Given the description of an element on the screen output the (x, y) to click on. 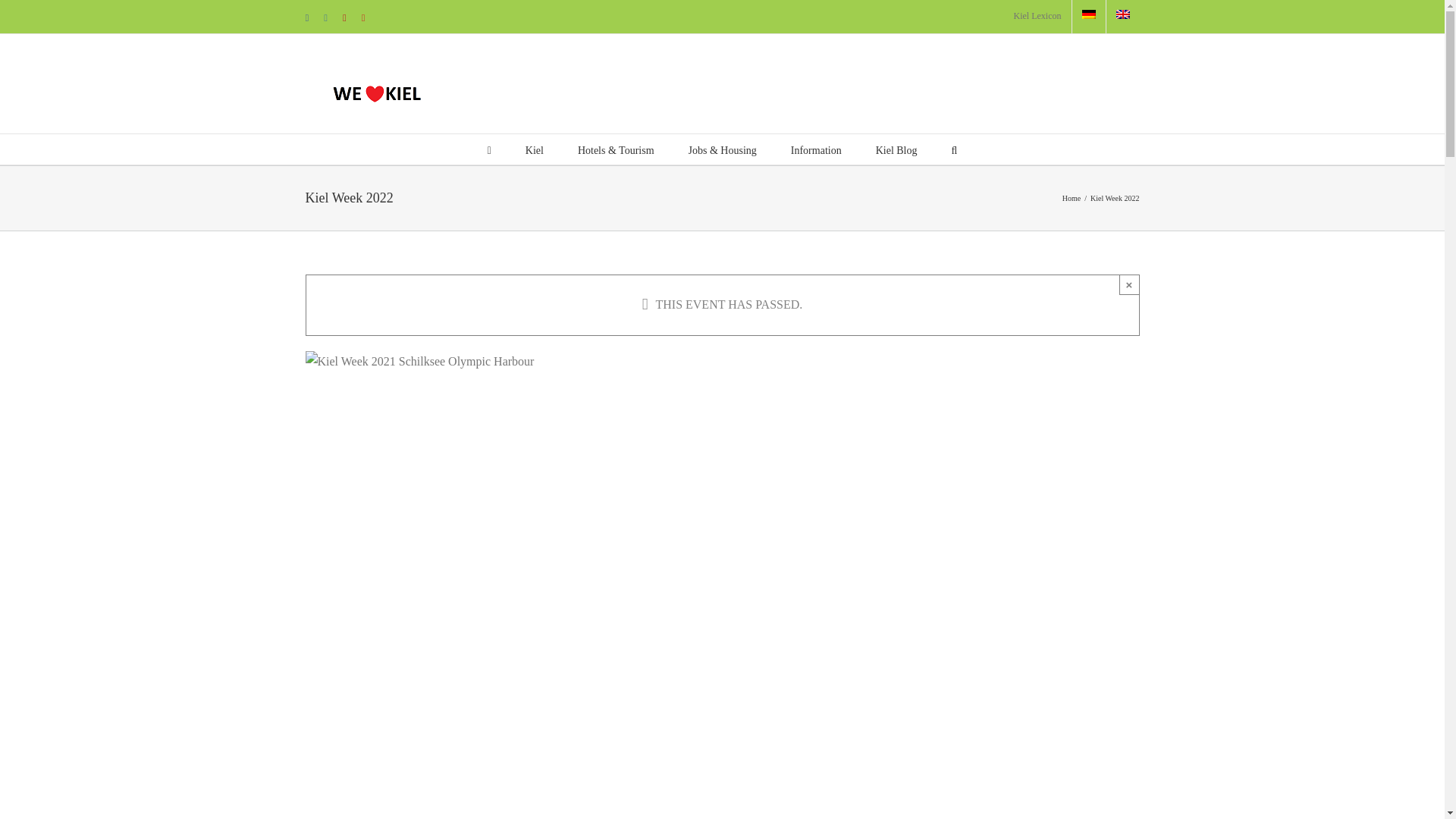
Home (1071, 198)
Kiel Blog (896, 149)
Information (815, 149)
Kiel Lexicon (1037, 16)
